Given the description of an element on the screen output the (x, y) to click on. 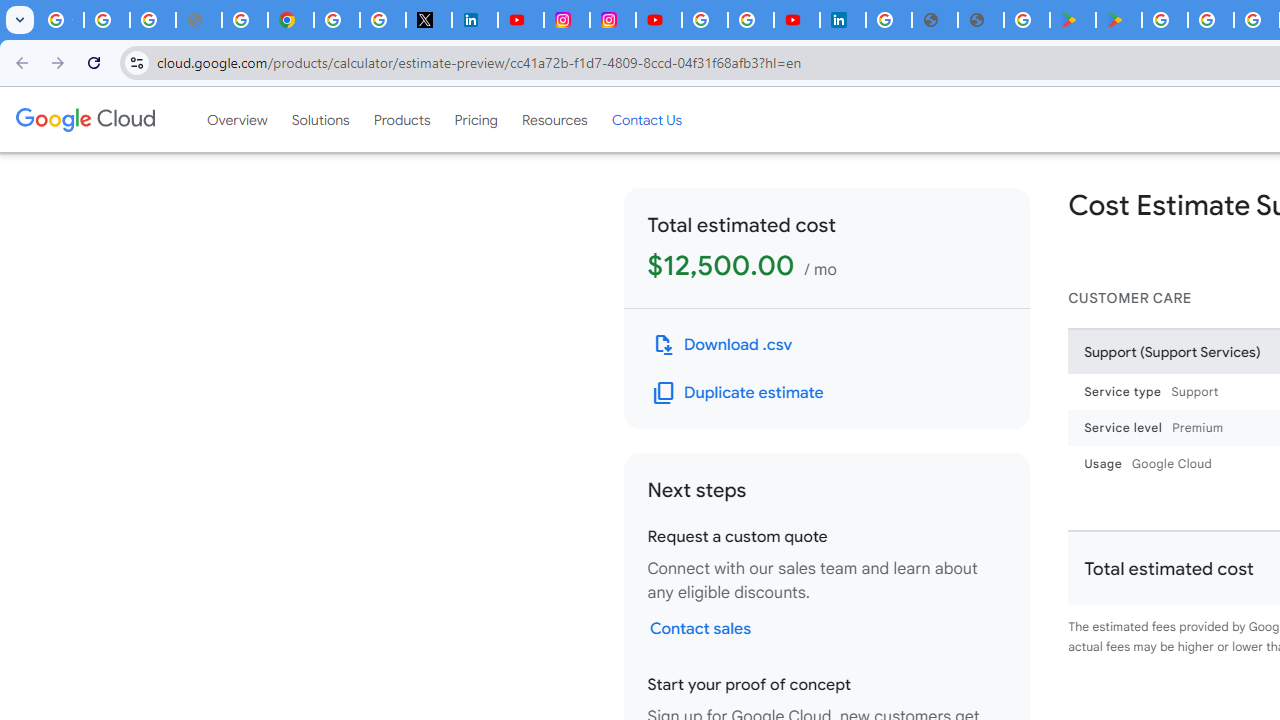
Identity verification via Persona | LinkedIn Help (843, 20)
support.google.com - Network error (198, 20)
Resources (553, 119)
YouTube Content Monetization Policies - How YouTube Works (520, 20)
Google Cloud (84, 119)
Duplicate this estimate (738, 392)
